Given the description of an element on the screen output the (x, y) to click on. 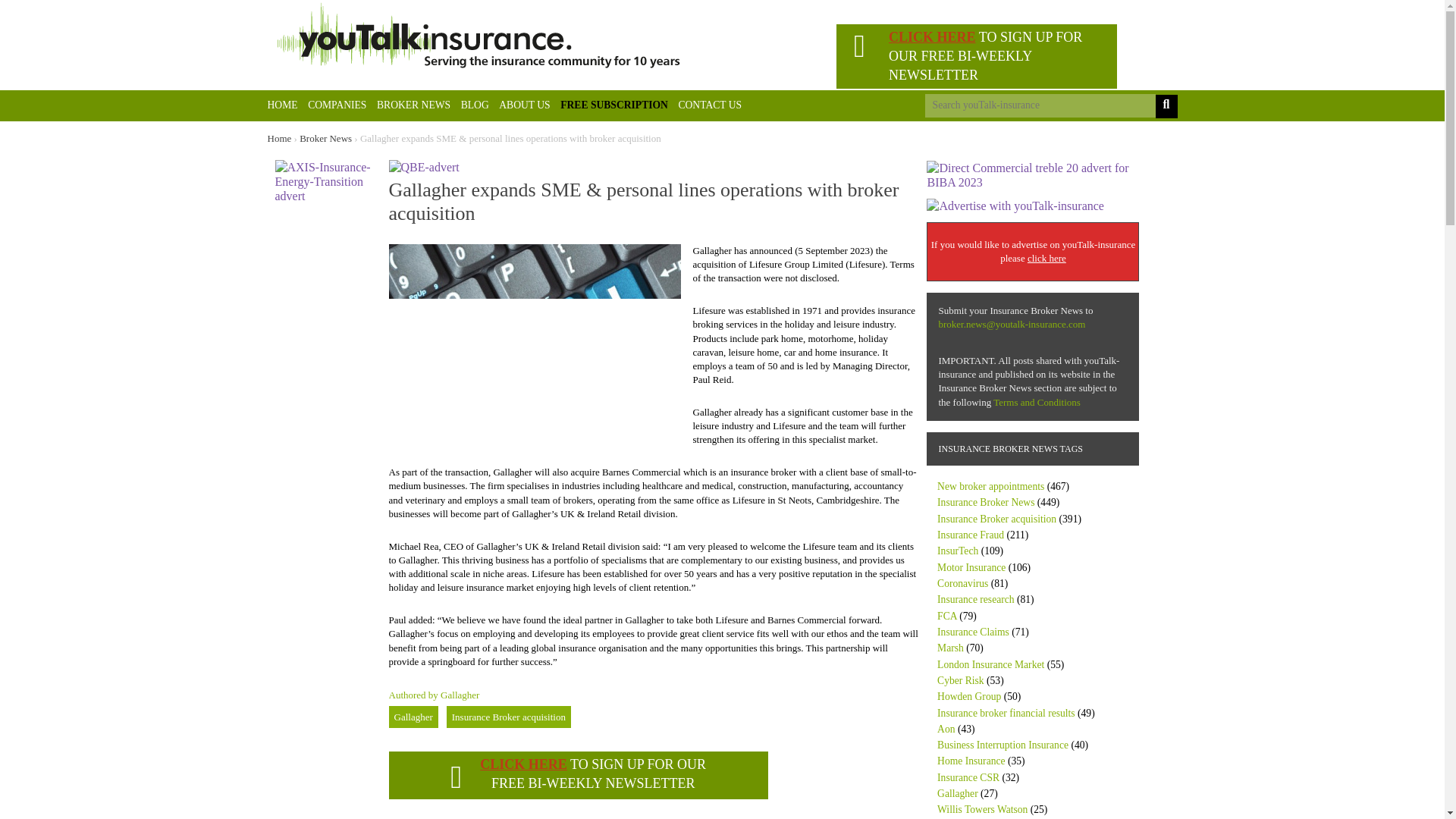
BROKER NEWS (413, 104)
Insurance Claims (973, 632)
ABOUT US (524, 104)
HOME (281, 104)
Find out more about youTalk-insurance (524, 104)
FCA (946, 615)
Gallagher buys Lifesure Group Limited (533, 341)
Enter the terms you wish to search for. (1040, 105)
Terms and Conditions (1036, 401)
Gallagher (413, 716)
InsurTech (957, 550)
Insurance Broker acquisition (997, 518)
Motor Insurance (971, 567)
